Given the description of an element on the screen output the (x, y) to click on. 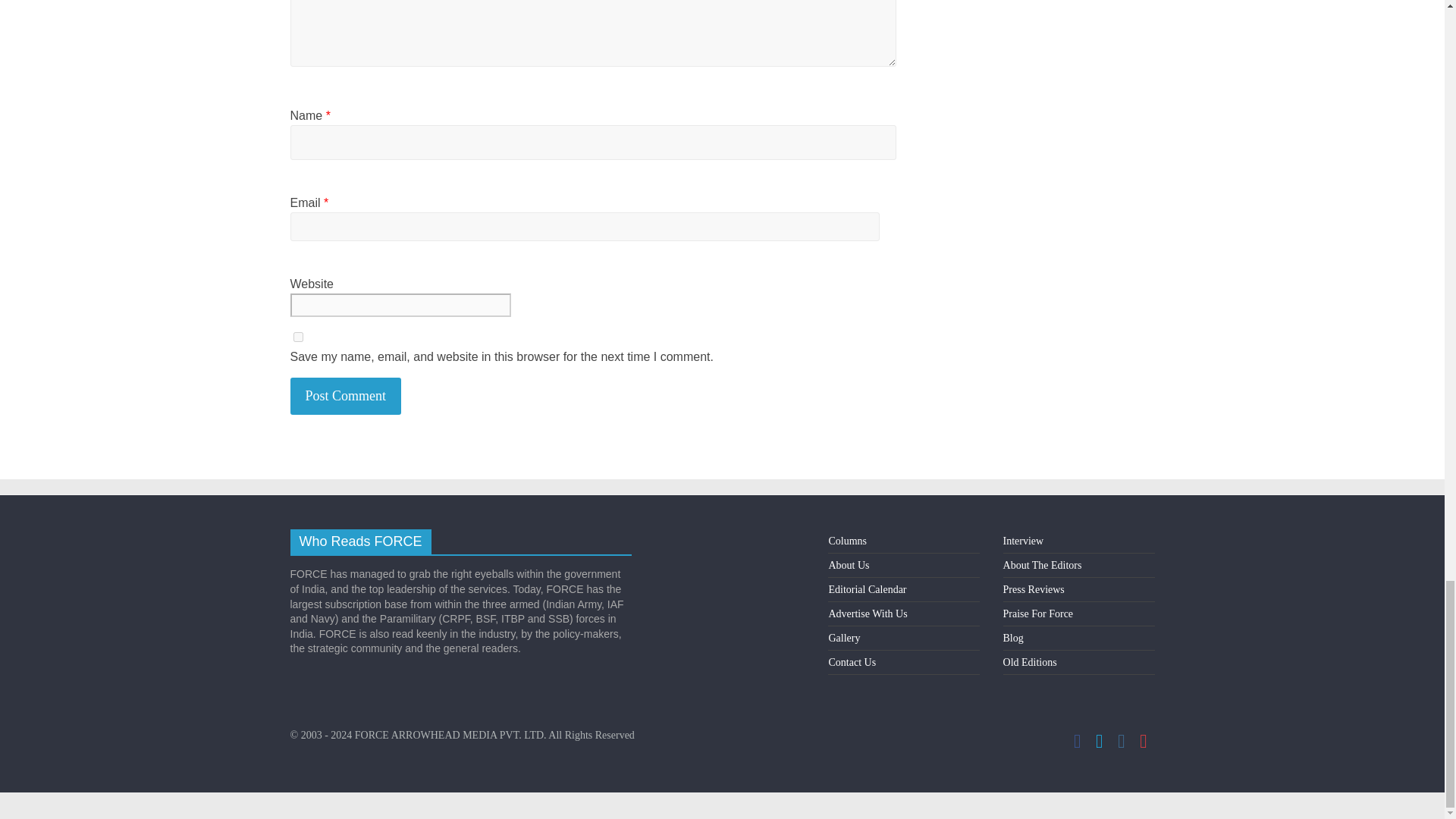
Post Comment (345, 395)
yes (297, 337)
